Given the description of an element on the screen output the (x, y) to click on. 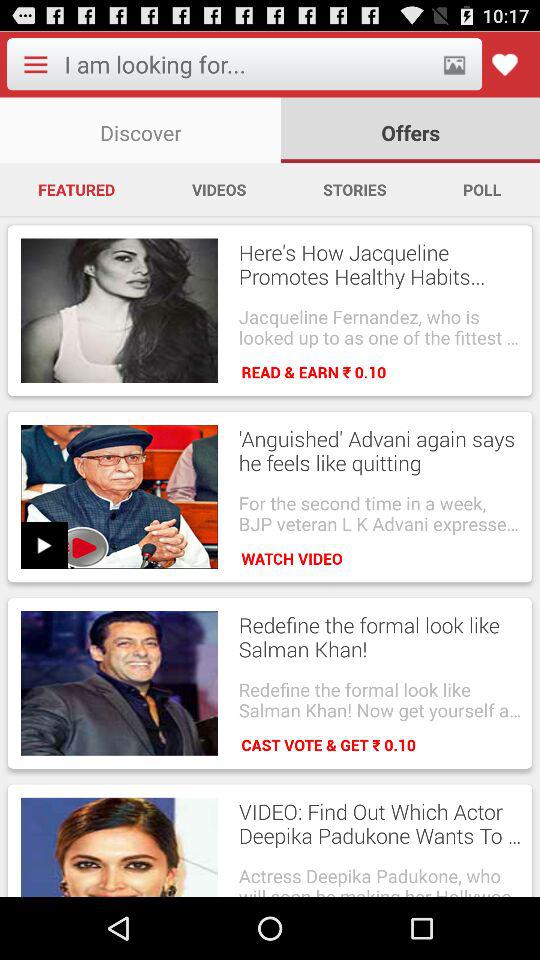
turn on item next to the discover icon (410, 130)
